Given the description of an element on the screen output the (x, y) to click on. 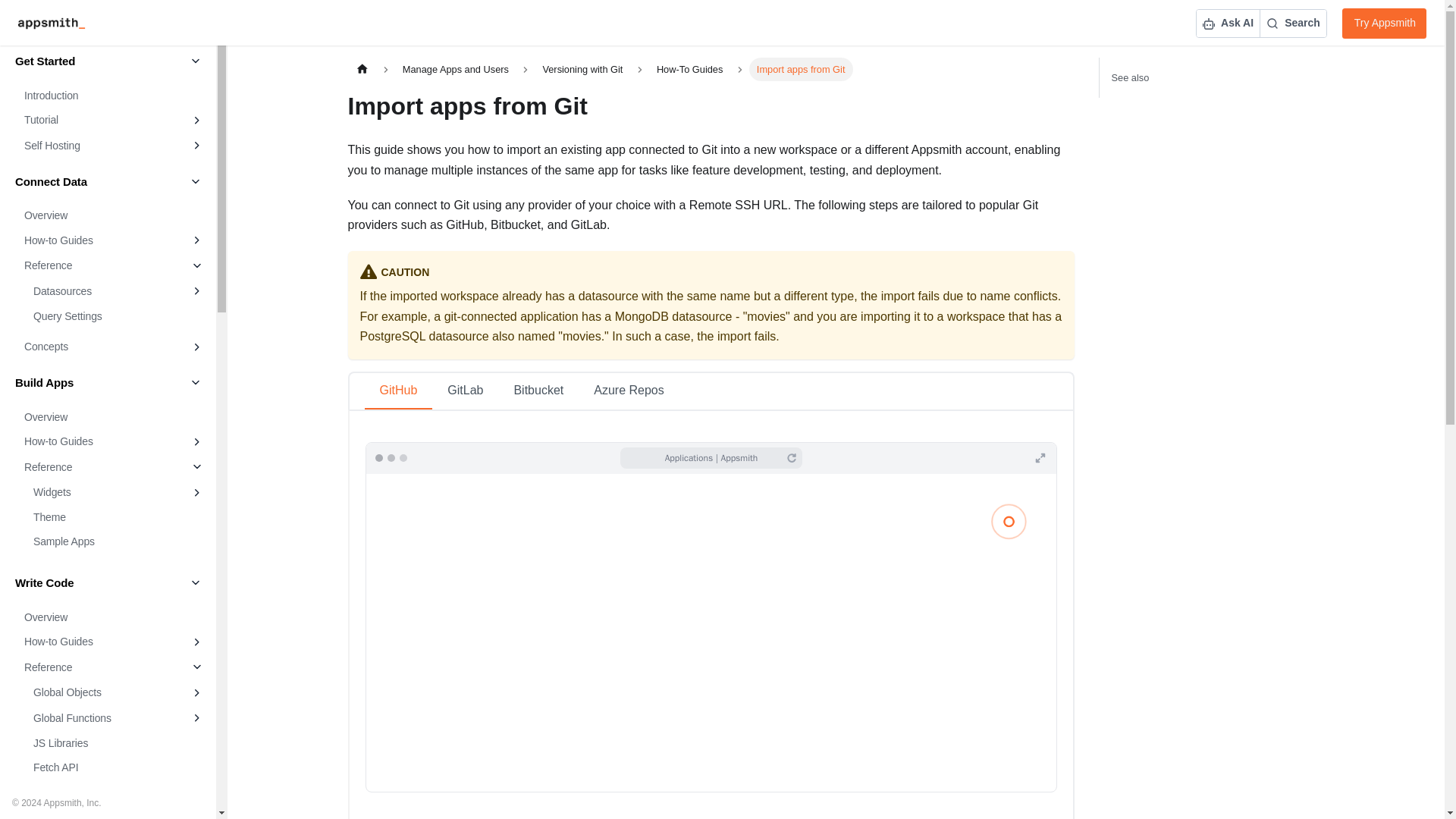
How-to Guides (97, 240)
Theme (116, 516)
How-to Guides (97, 441)
Reference (97, 265)
Overview (111, 617)
Connect Data (107, 181)
See also (1210, 77)
Tutorial (97, 120)
Build Apps (107, 382)
Overview (111, 215)
How-to Guides (97, 642)
Widgets (102, 491)
Introduction (111, 95)
Reference (97, 467)
Get Started (107, 60)
